Given the description of an element on the screen output the (x, y) to click on. 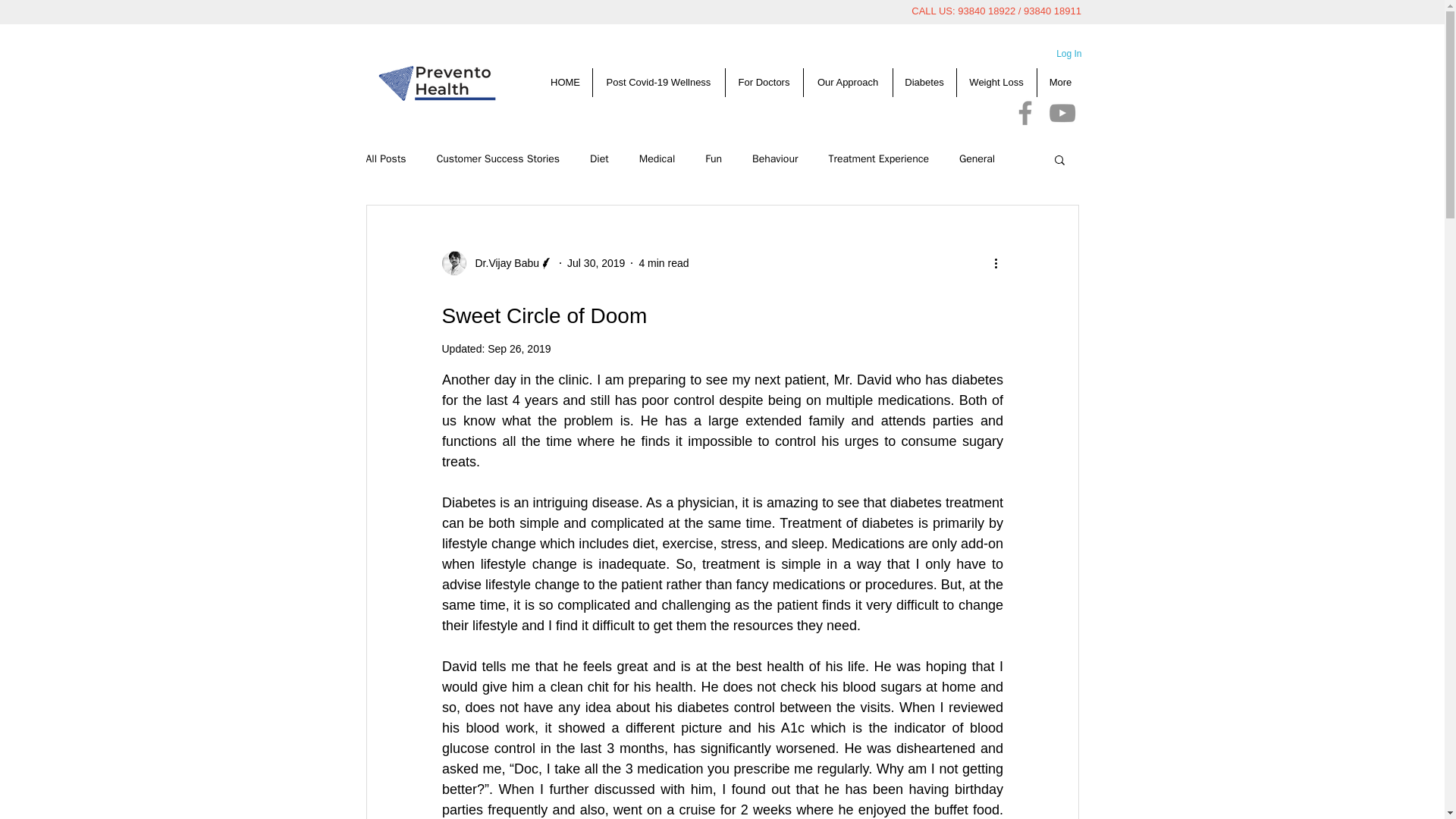
All Posts (385, 159)
Customer Success Stories (497, 159)
Weight Loss (995, 82)
HOME (564, 82)
Fun (713, 159)
Treatment Experience (878, 159)
Sep 26, 2019 (518, 348)
Our Approach (846, 82)
Log In (1068, 54)
Diabetes (923, 82)
For Doctors (764, 82)
Post Covid-19 Wellness (657, 82)
Behaviour (774, 159)
Dr.Vijay Babu (497, 262)
4 min read (663, 262)
